Given the description of an element on the screen output the (x, y) to click on. 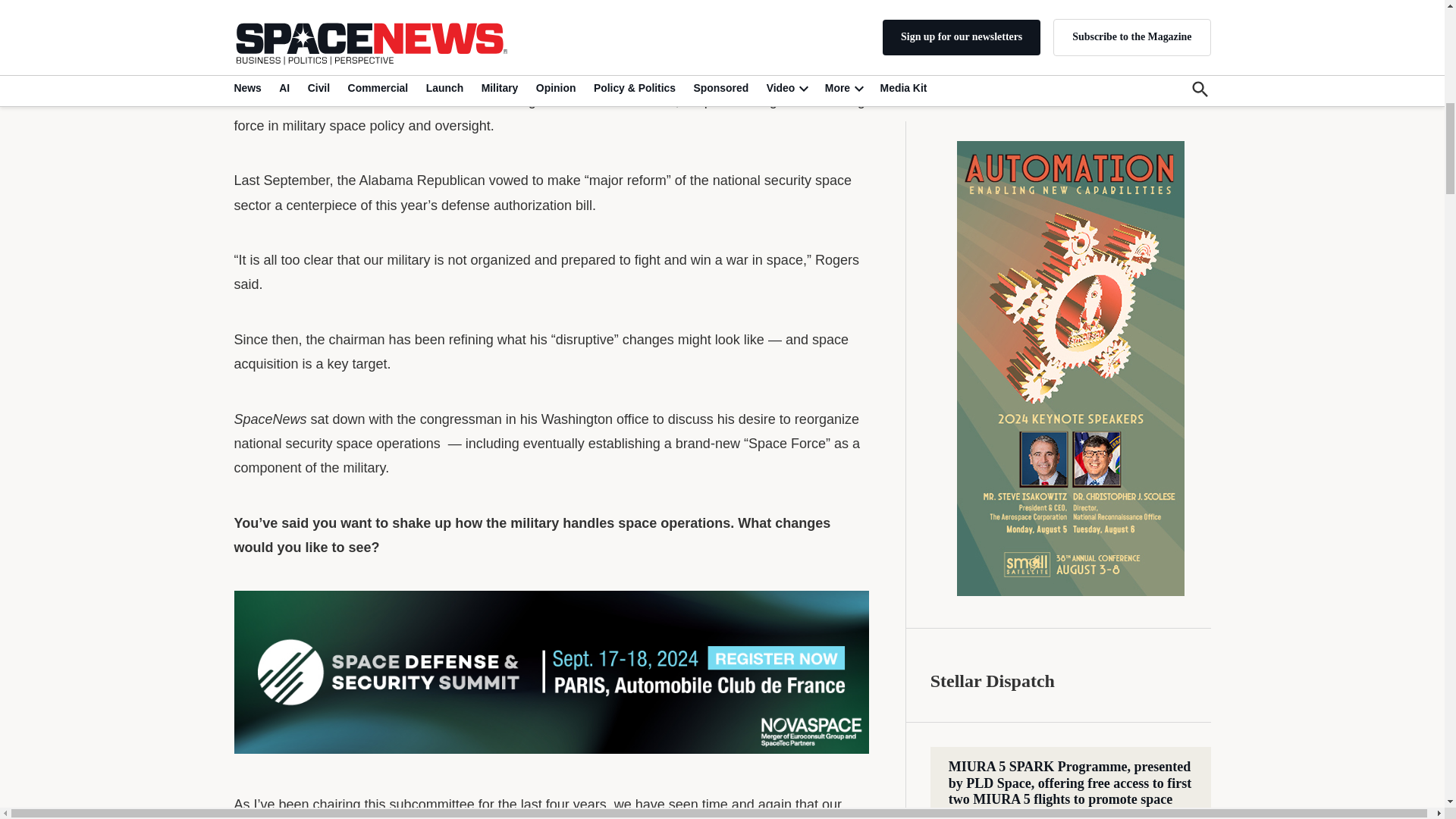
SDSS (549, 672)
